Given the description of an element on the screen output the (x, y) to click on. 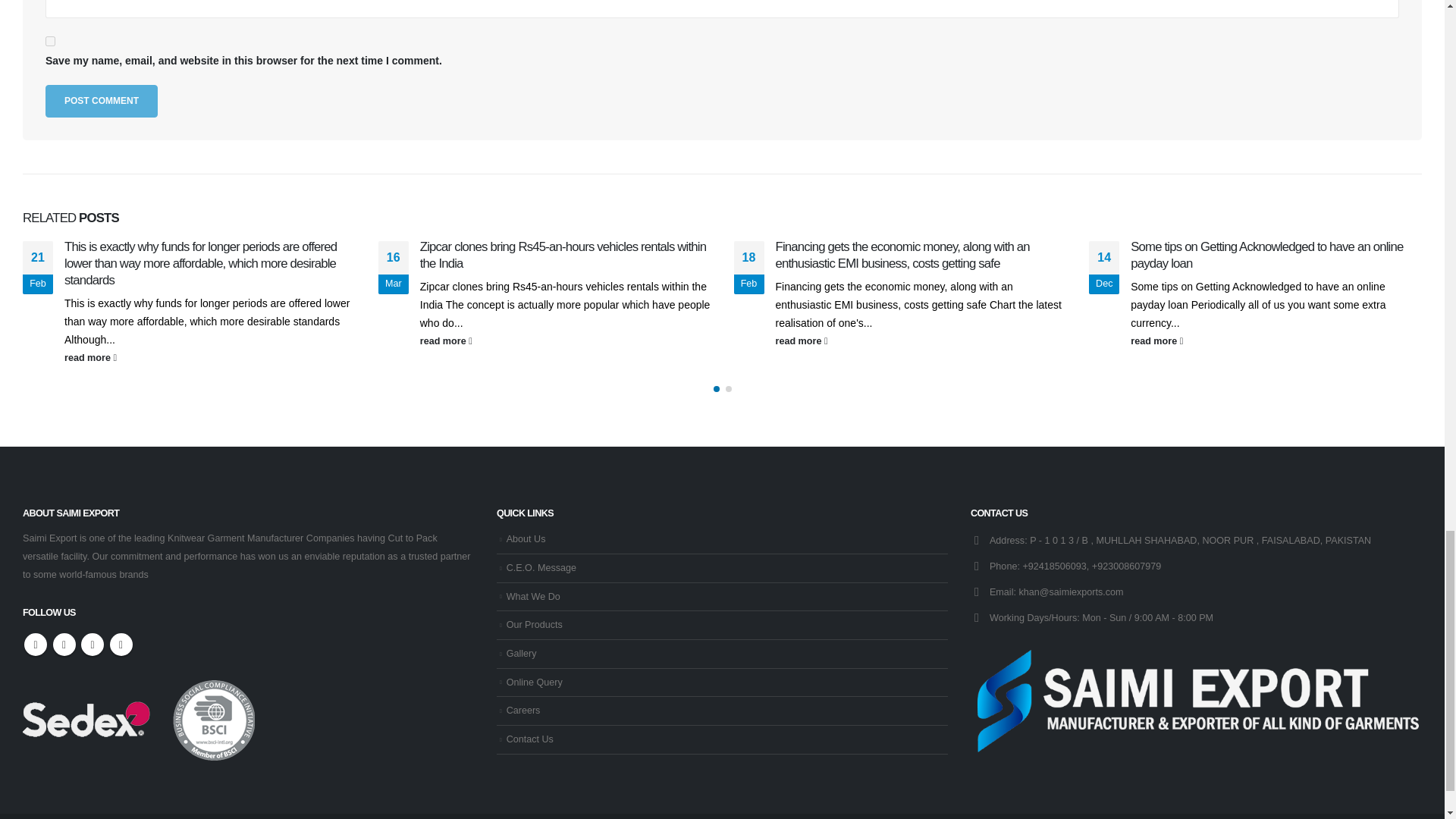
Post Comment (101, 101)
yes (50, 40)
Post Comment (101, 101)
